Given the description of an element on the screen output the (x, y) to click on. 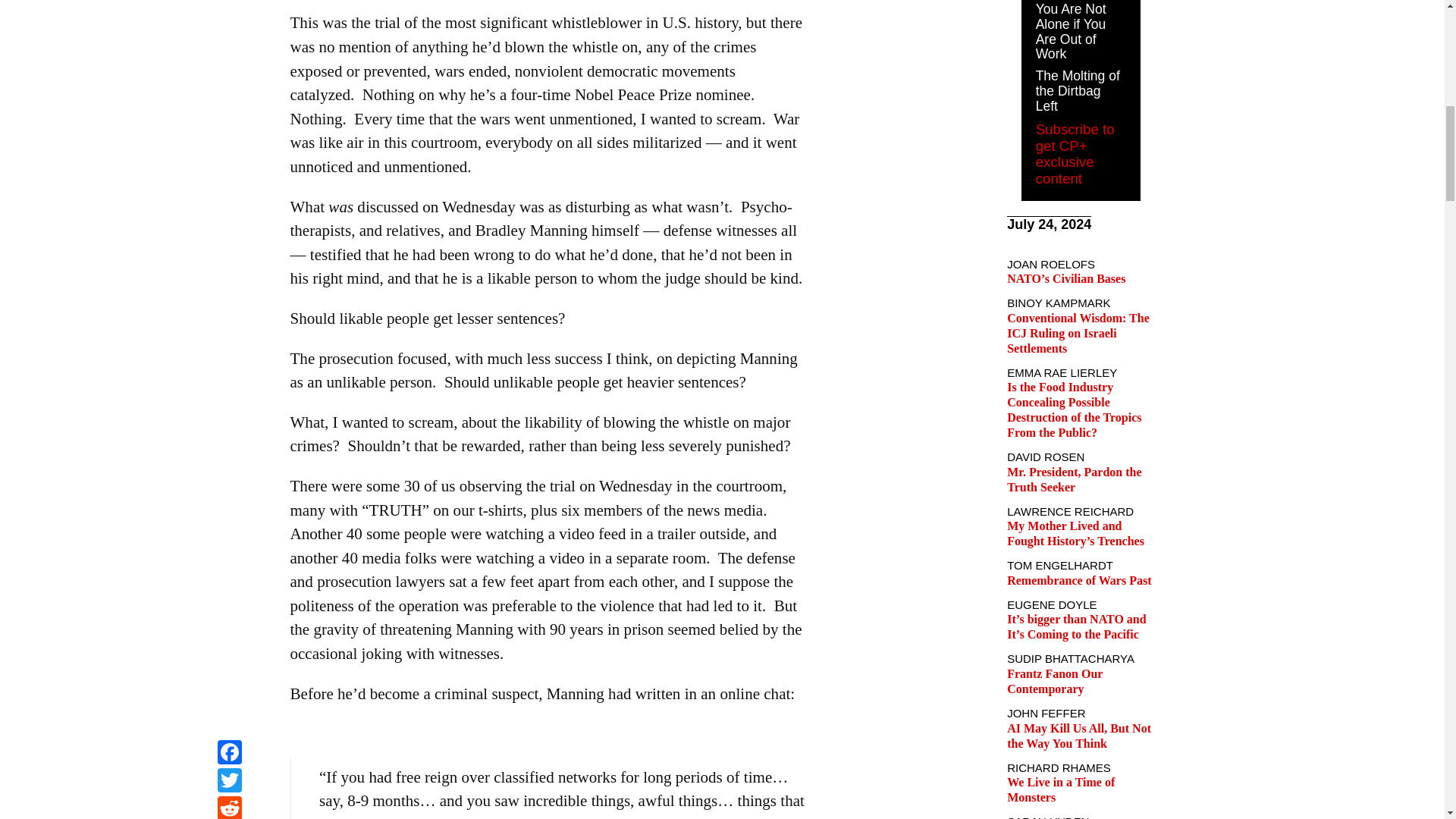
Email (229, 18)
Email (229, 18)
Reddit (229, 2)
Reddit (229, 2)
